Given the description of an element on the screen output the (x, y) to click on. 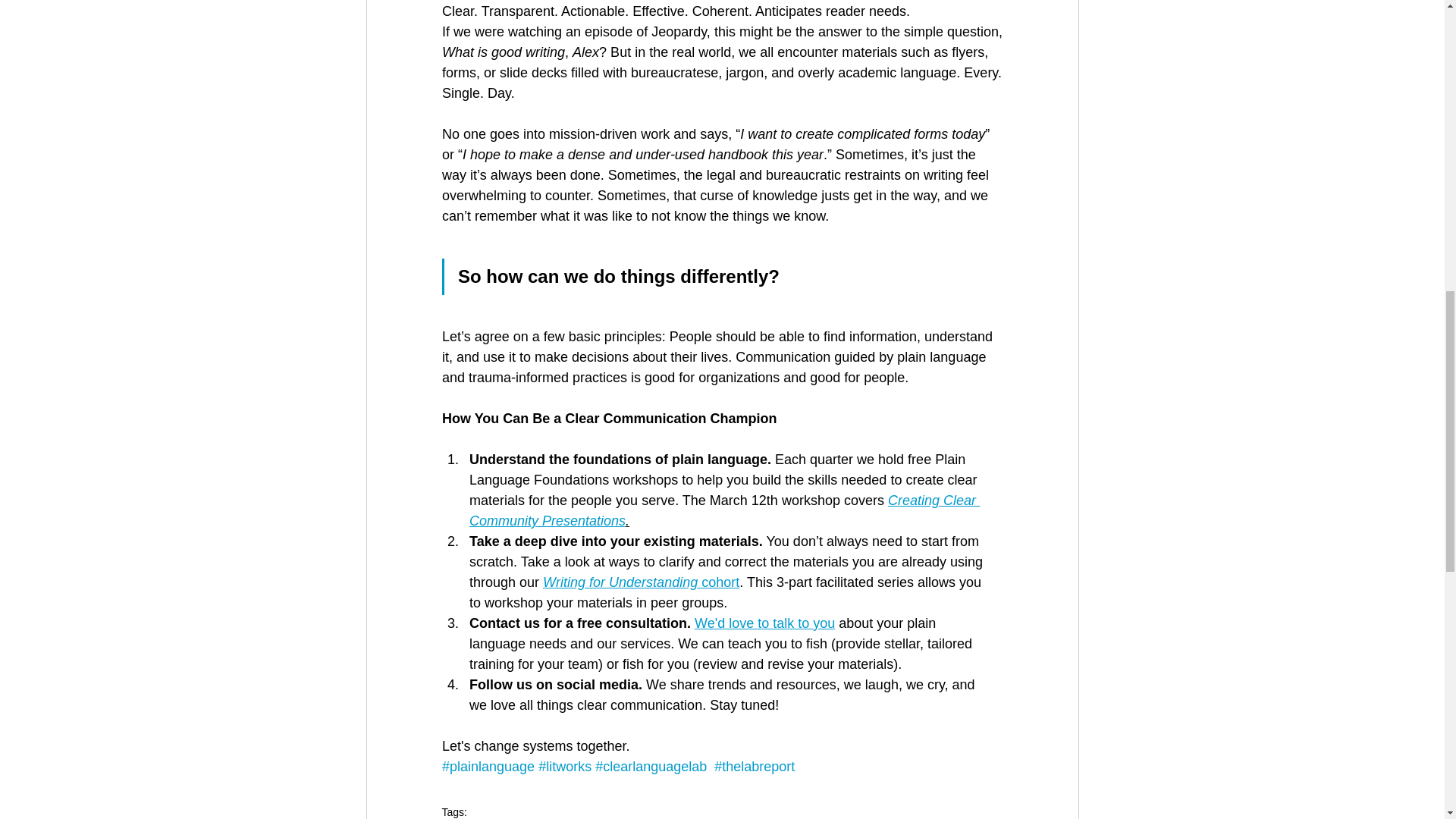
We'd love to talk to you (764, 622)
 cohort (718, 581)
Writing for Understanding (620, 581)
Creating Clear Community Presentations (723, 510)
